Given the description of an element on the screen output the (x, y) to click on. 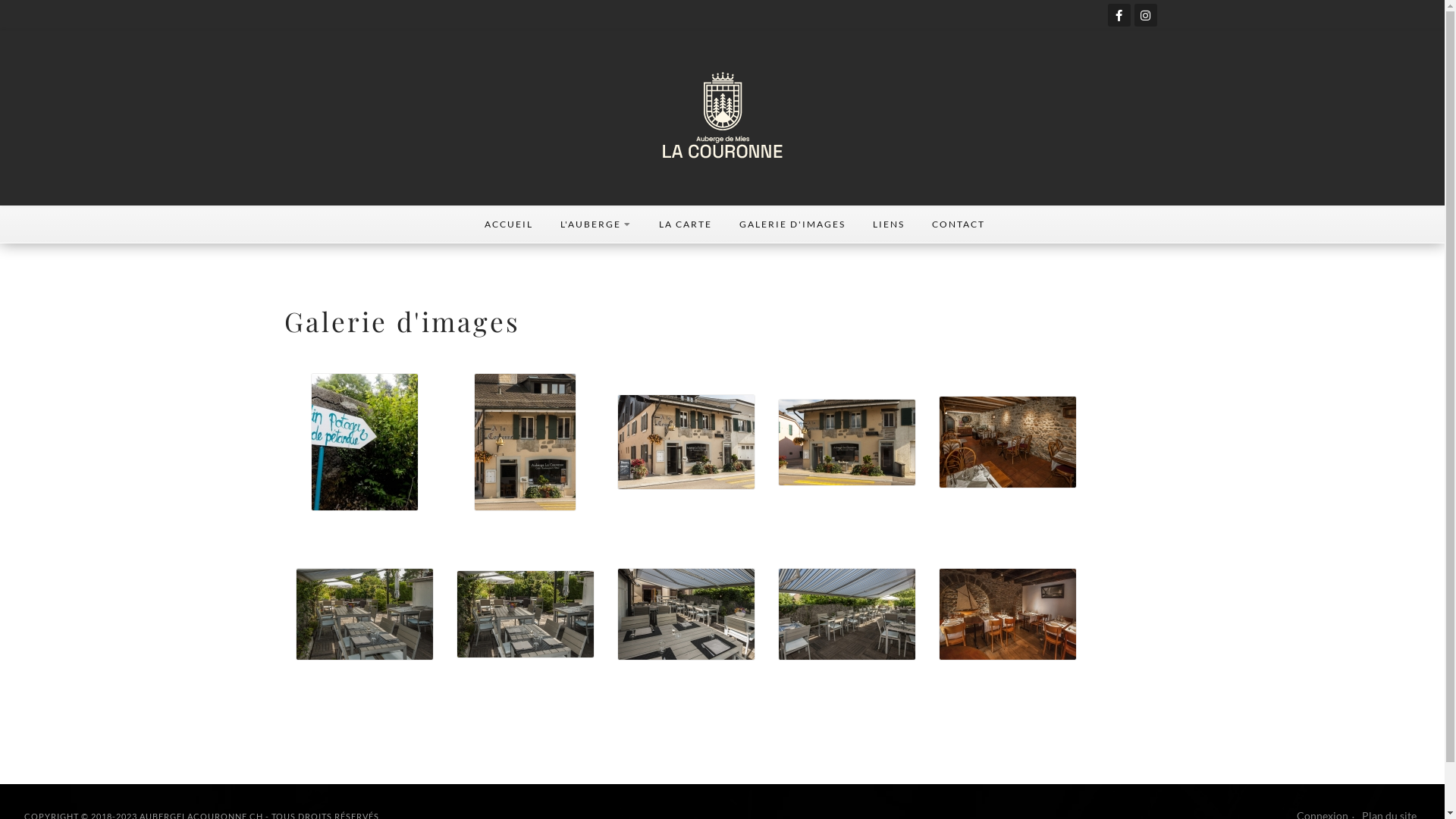
LIENS Element type: text (887, 224)
Facebook Element type: text (1118, 14)
L'AUBERGE Element type: text (595, 224)
ACCUEIL Element type: text (508, 224)
CONTACT Element type: text (957, 224)
Instagram Element type: text (1145, 14)
GALERIE D'IMAGES Element type: text (791, 224)
LA CARTE Element type: text (684, 224)
